Given the description of an element on the screen output the (x, y) to click on. 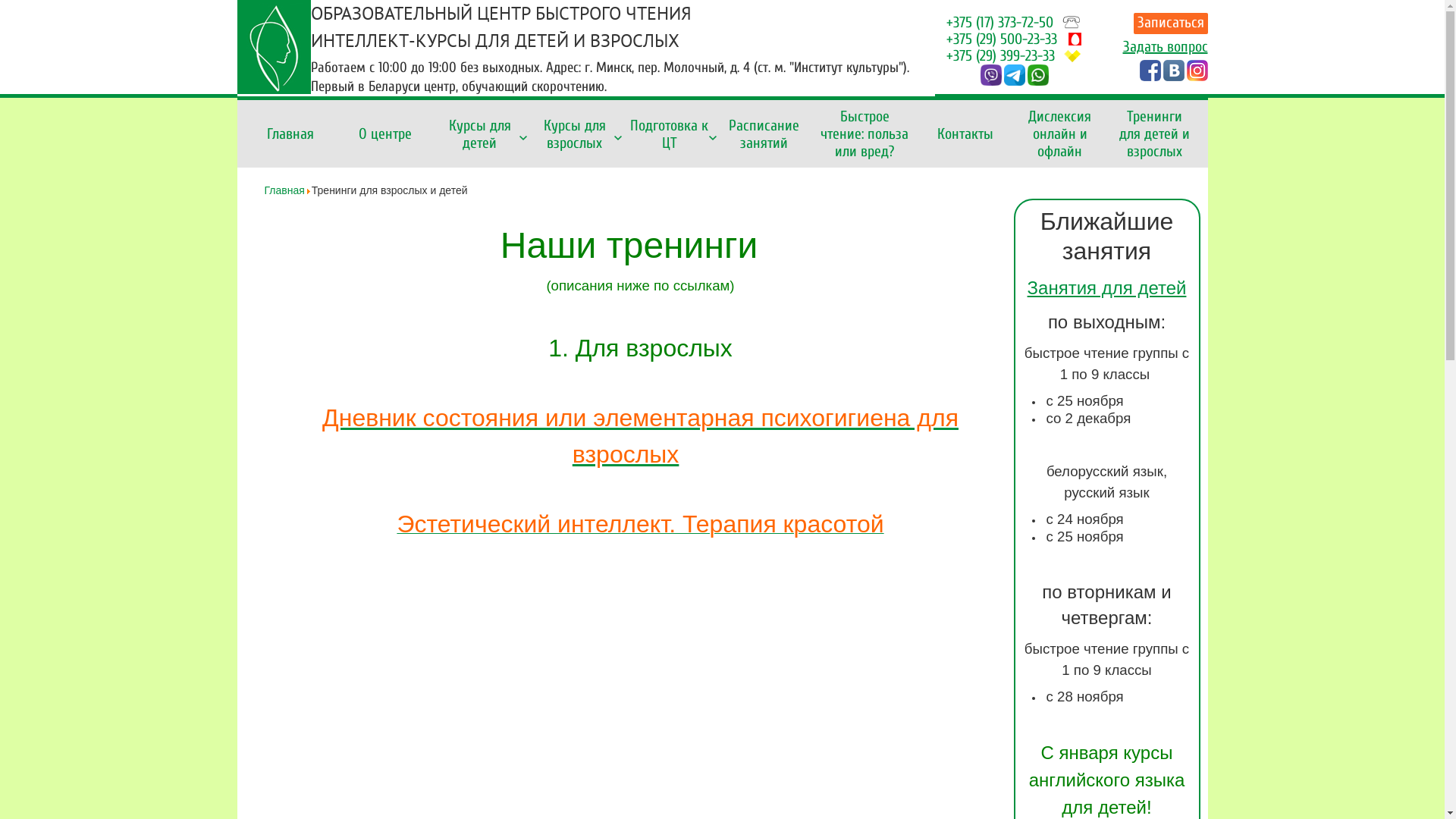
+375 (29) 399-23-33 Element type: text (1000, 55)
+375 (17) 373-72-50 Element type: text (999, 22)
+375 (29) 500-23-33 Element type: text (1001, 38)
